Given the description of an element on the screen output the (x, y) to click on. 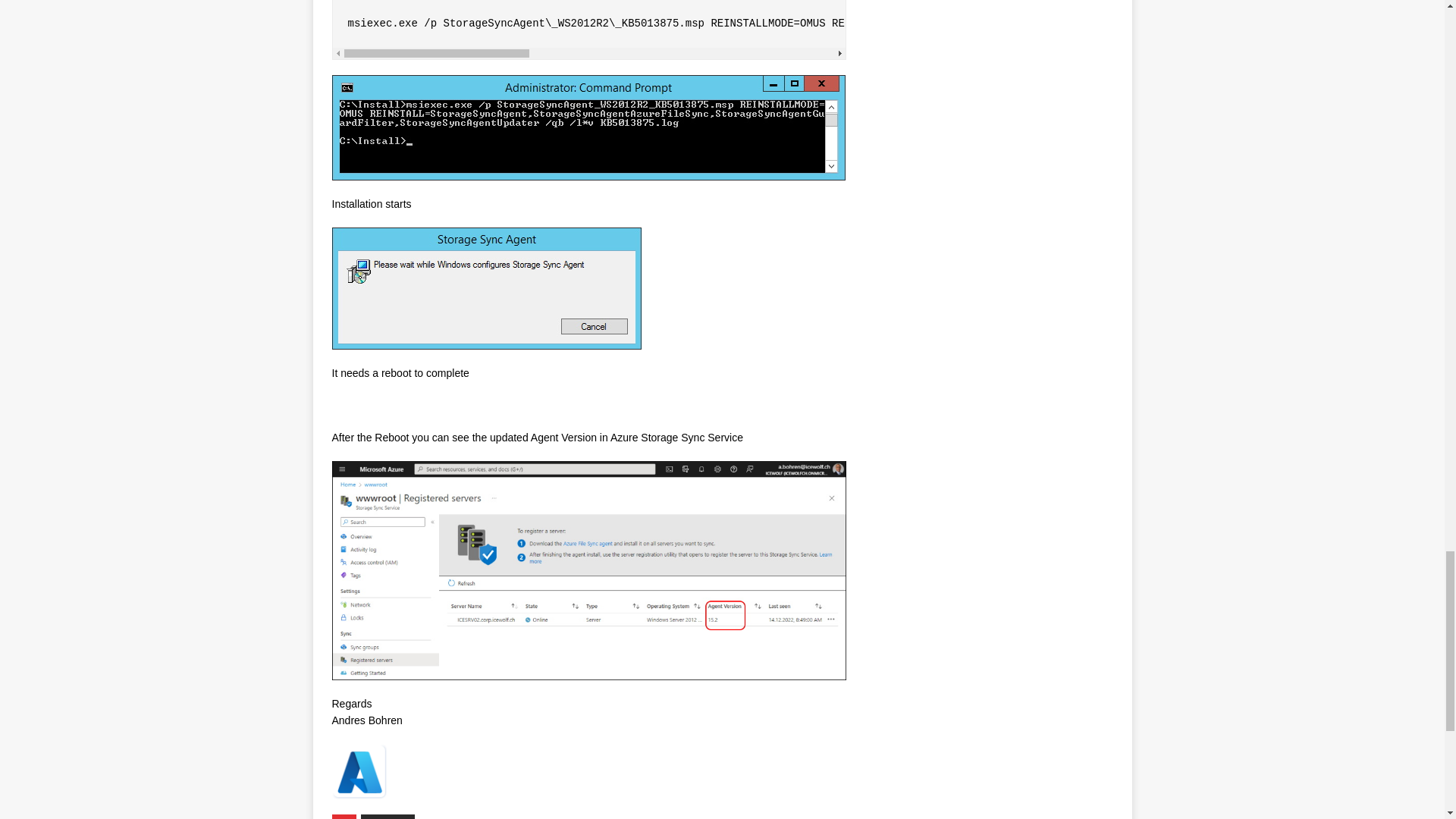
AZURE (387, 816)
